Given the description of an element on the screen output the (x, y) to click on. 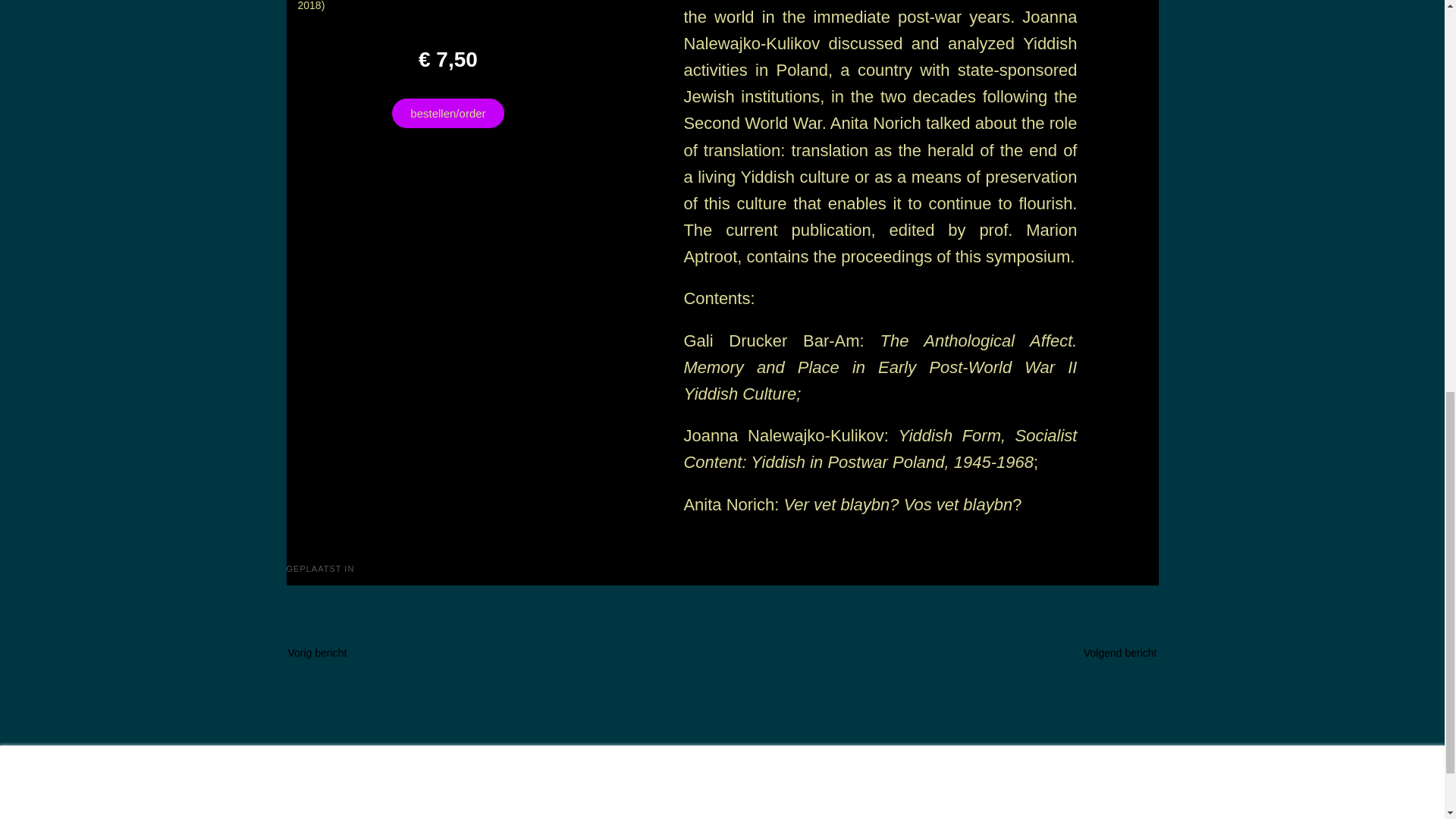
Volgend bericht (1105, 651)
Vorig bericht (331, 651)
AYS (365, 568)
